Given the description of an element on the screen output the (x, y) to click on. 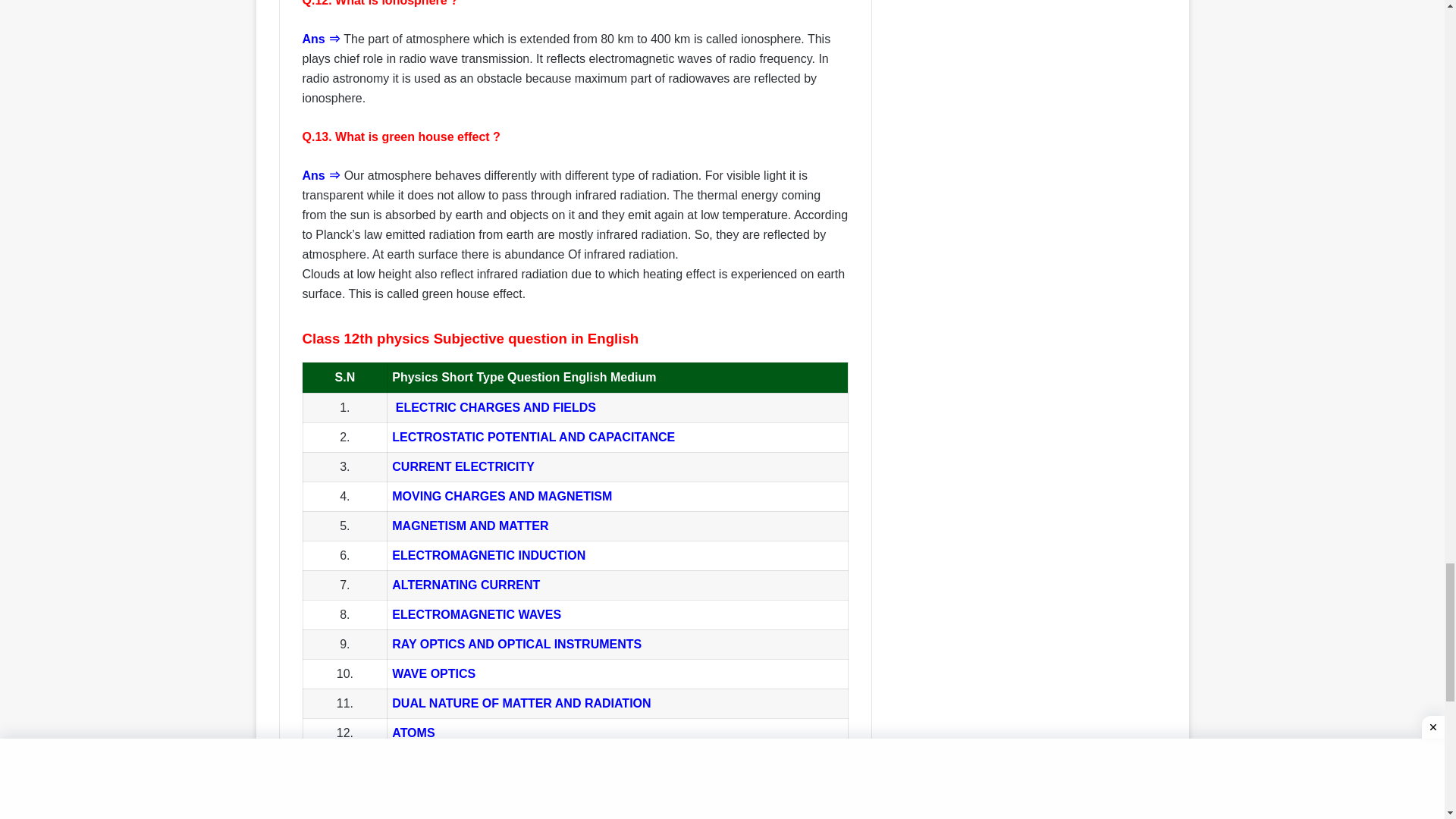
WAVE OPTICS (433, 673)
LECTROSTATIC POTENTIAL AND CAPACITANCE (533, 436)
MAGNETISM AND MATTER (469, 525)
NUCLEI (414, 762)
ALTERNATING CURRENT (465, 584)
MOVING CHARGES AND MAGNETISM (501, 495)
DUAL NATURE OF MATTER AND RADIATION (520, 703)
ELECTROMAGNETIC INDUCTION (488, 554)
RAY OPTICS AND OPTICAL INSTRUMENTS (516, 644)
ATOMS (412, 732)
